Given the description of an element on the screen output the (x, y) to click on. 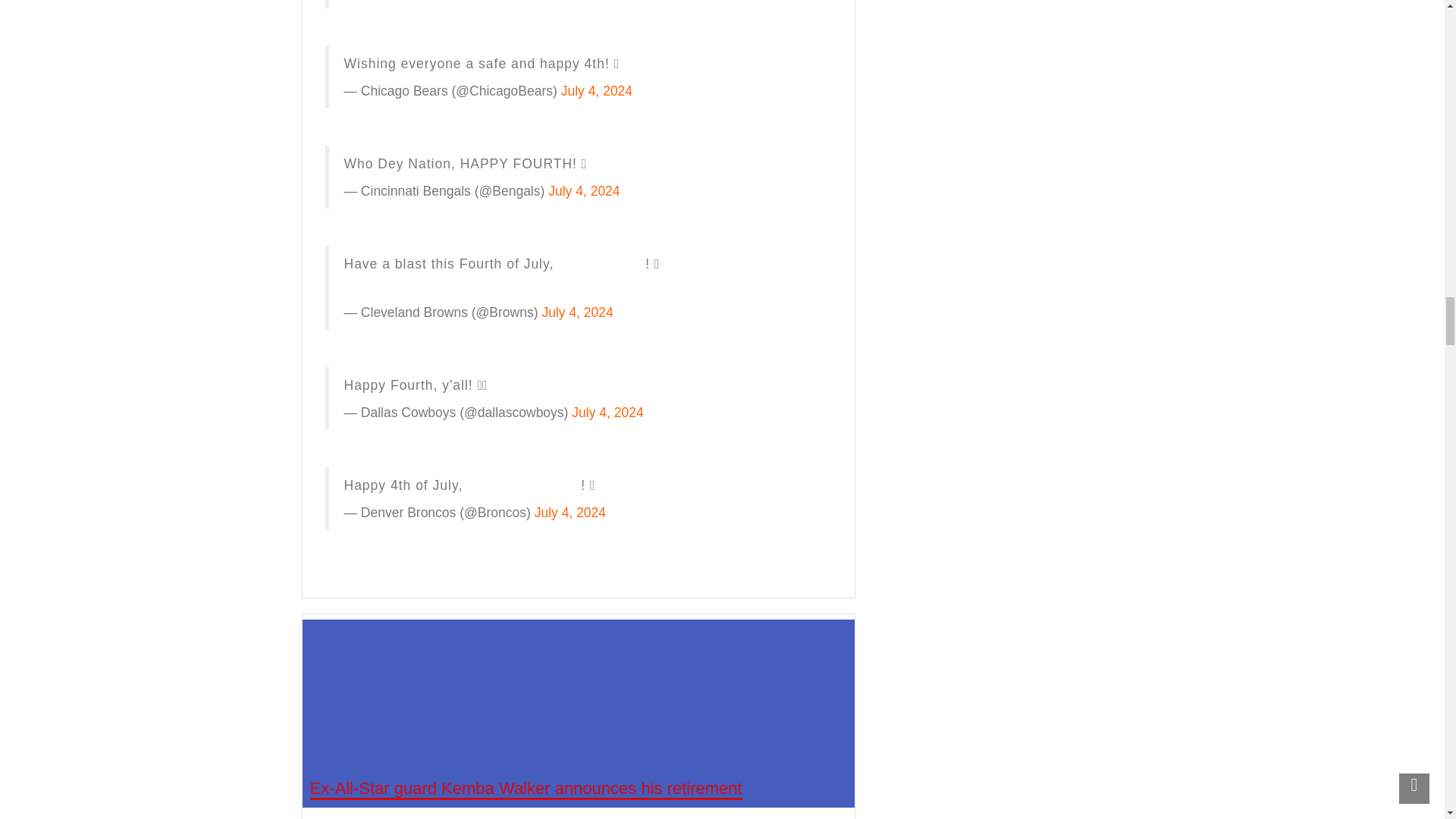
July 4, 2024 (595, 90)
